Given the description of an element on the screen output the (x, y) to click on. 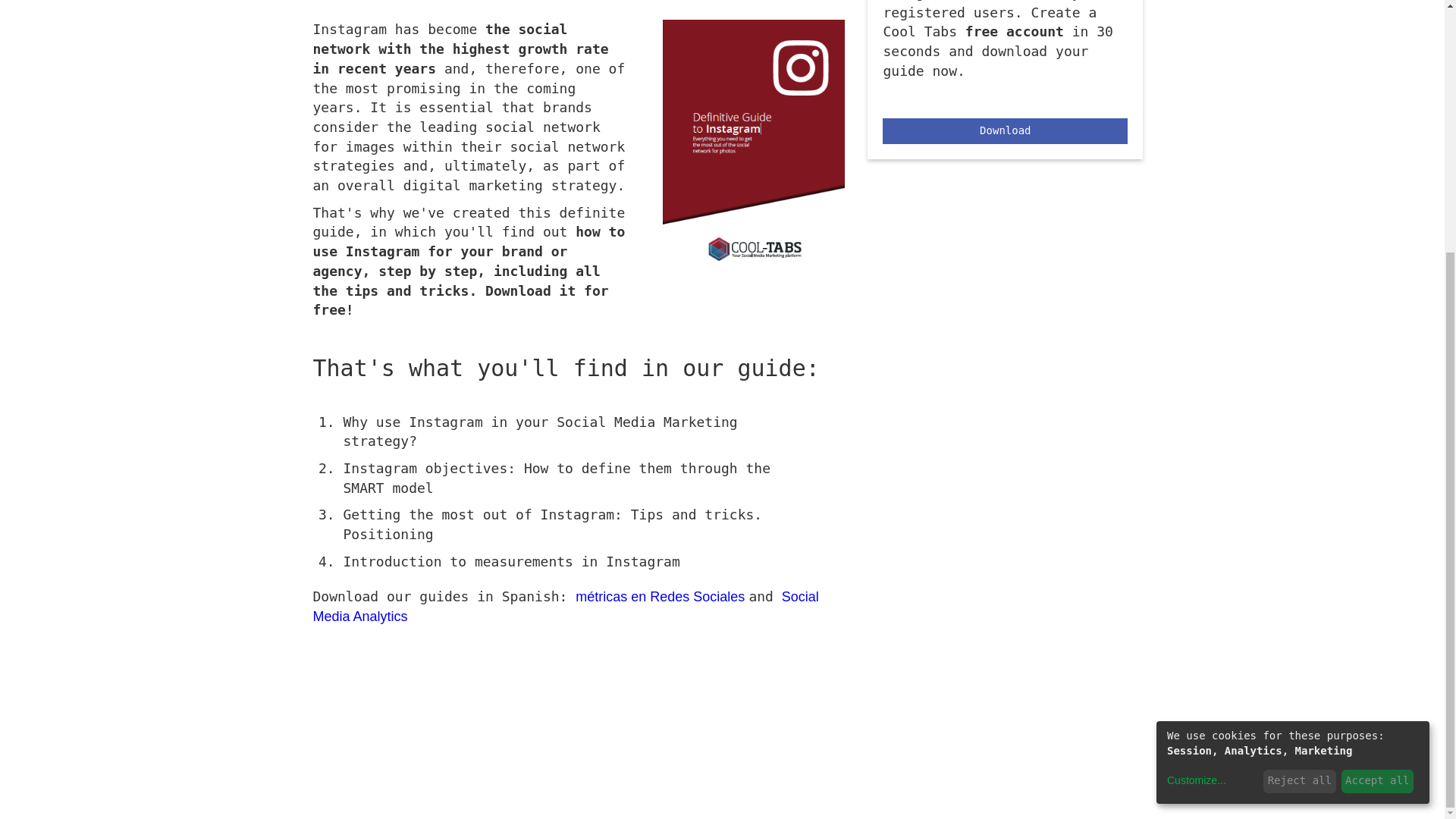
Download (1004, 130)
Accept all (1376, 424)
Customize... (1196, 424)
Social Media Analytics (565, 606)
Reject all (1299, 424)
